Given the description of an element on the screen output the (x, y) to click on. 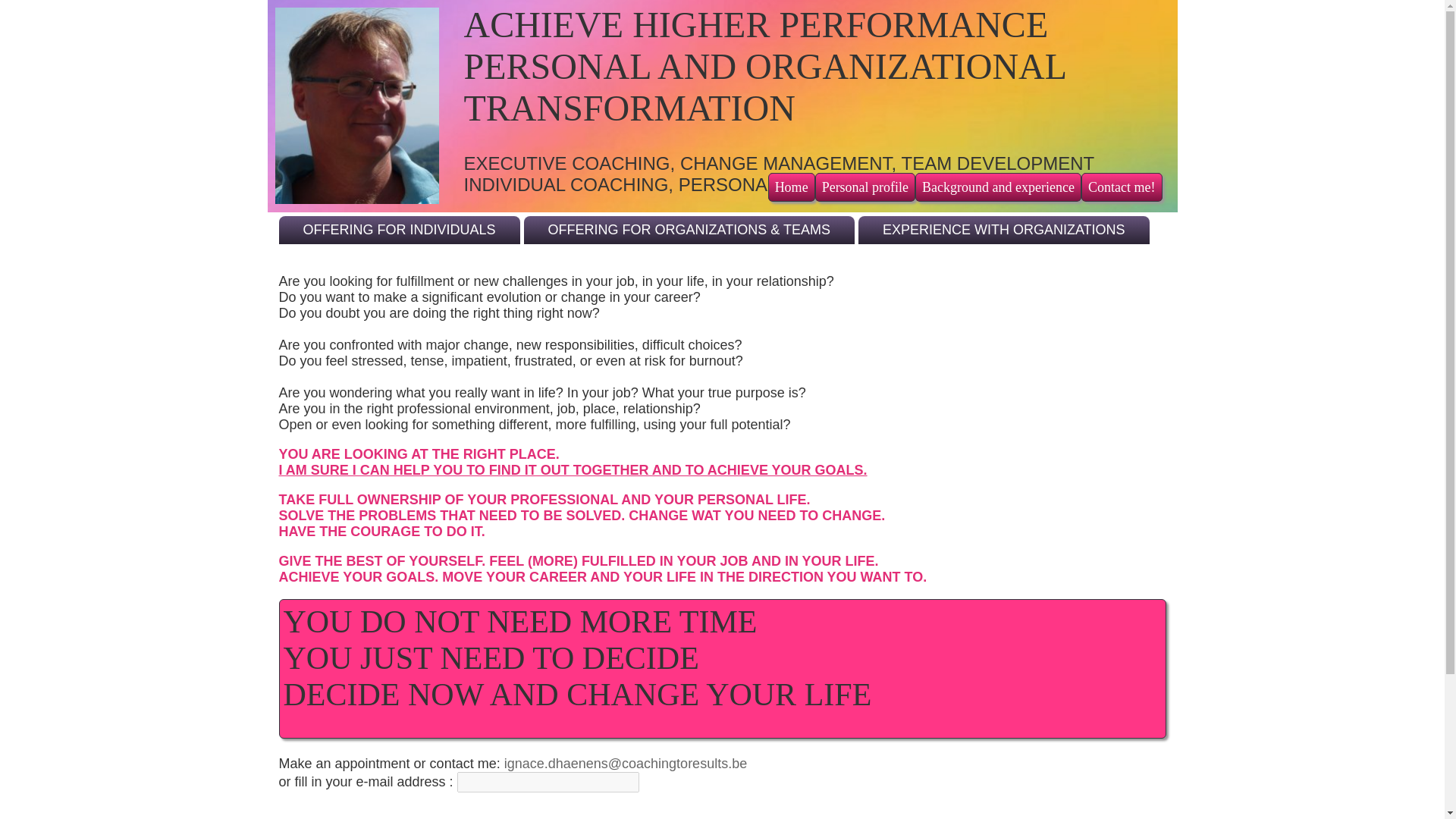
EXPERIENCE WITH ORGANIZATIONS (1004, 230)
Home (791, 186)
Background and experience (998, 186)
Contact me! (1121, 186)
OFFERING FOR INDIVIDUALS (399, 230)
Personal profile (865, 186)
